Given the description of an element on the screen output the (x, y) to click on. 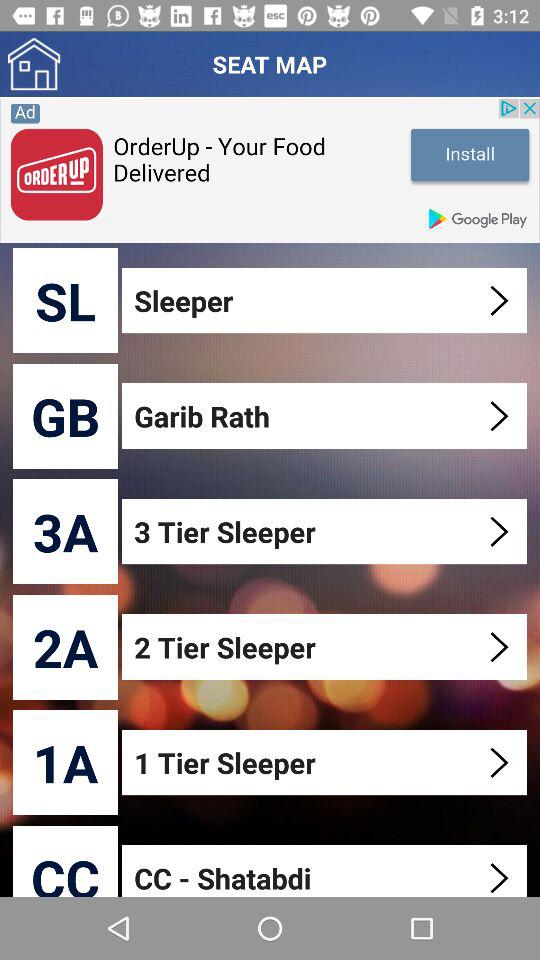
select cc - shatabdi (326, 870)
